Given the description of an element on the screen output the (x, y) to click on. 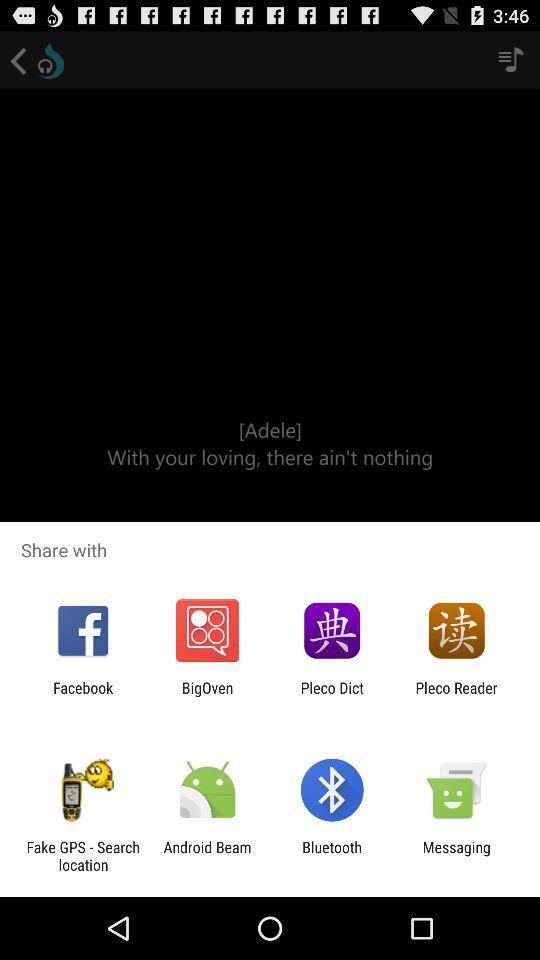
scroll until the bigoven (207, 696)
